Given the description of an element on the screen output the (x, y) to click on. 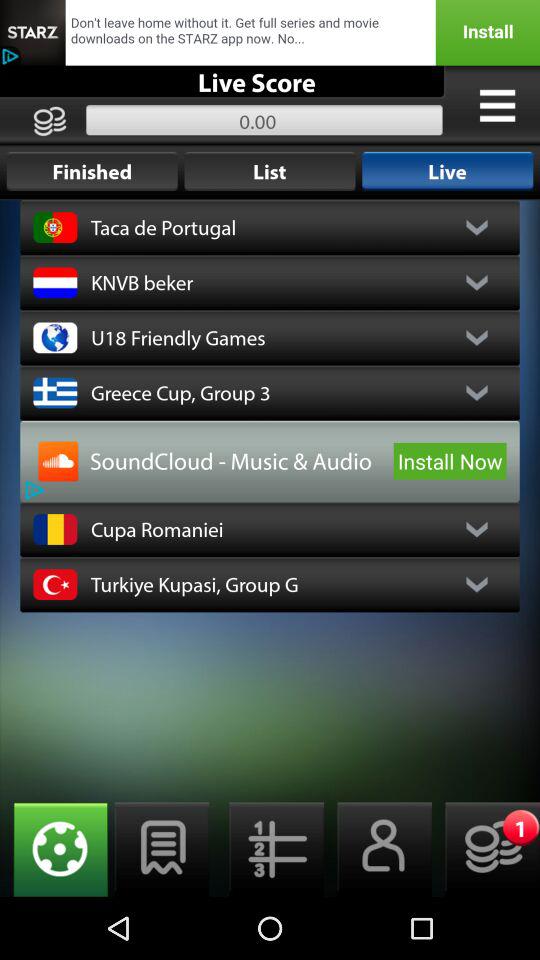
menu button (270, 849)
